Given the description of an element on the screen output the (x, y) to click on. 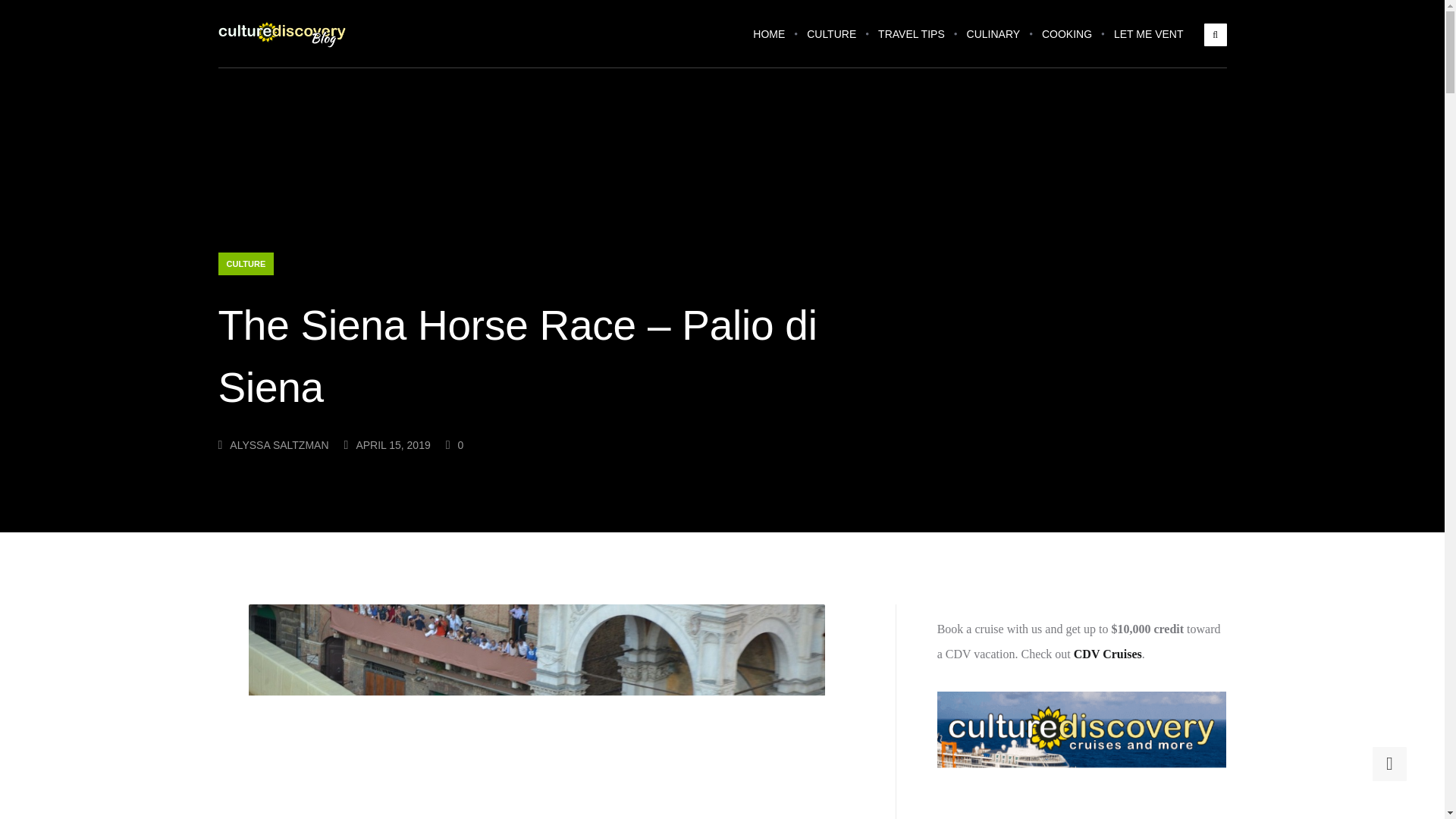
CULTURE (246, 263)
APRIL 15, 2019 (386, 444)
CULINARY (993, 43)
0 (454, 444)
HOME (768, 43)
TRAVEL TIPS (911, 43)
ALYSSA SALTZMAN (273, 444)
CULTURE (830, 43)
LET ME VENT (1148, 43)
COOKING (1066, 43)
